Given the description of an element on the screen output the (x, y) to click on. 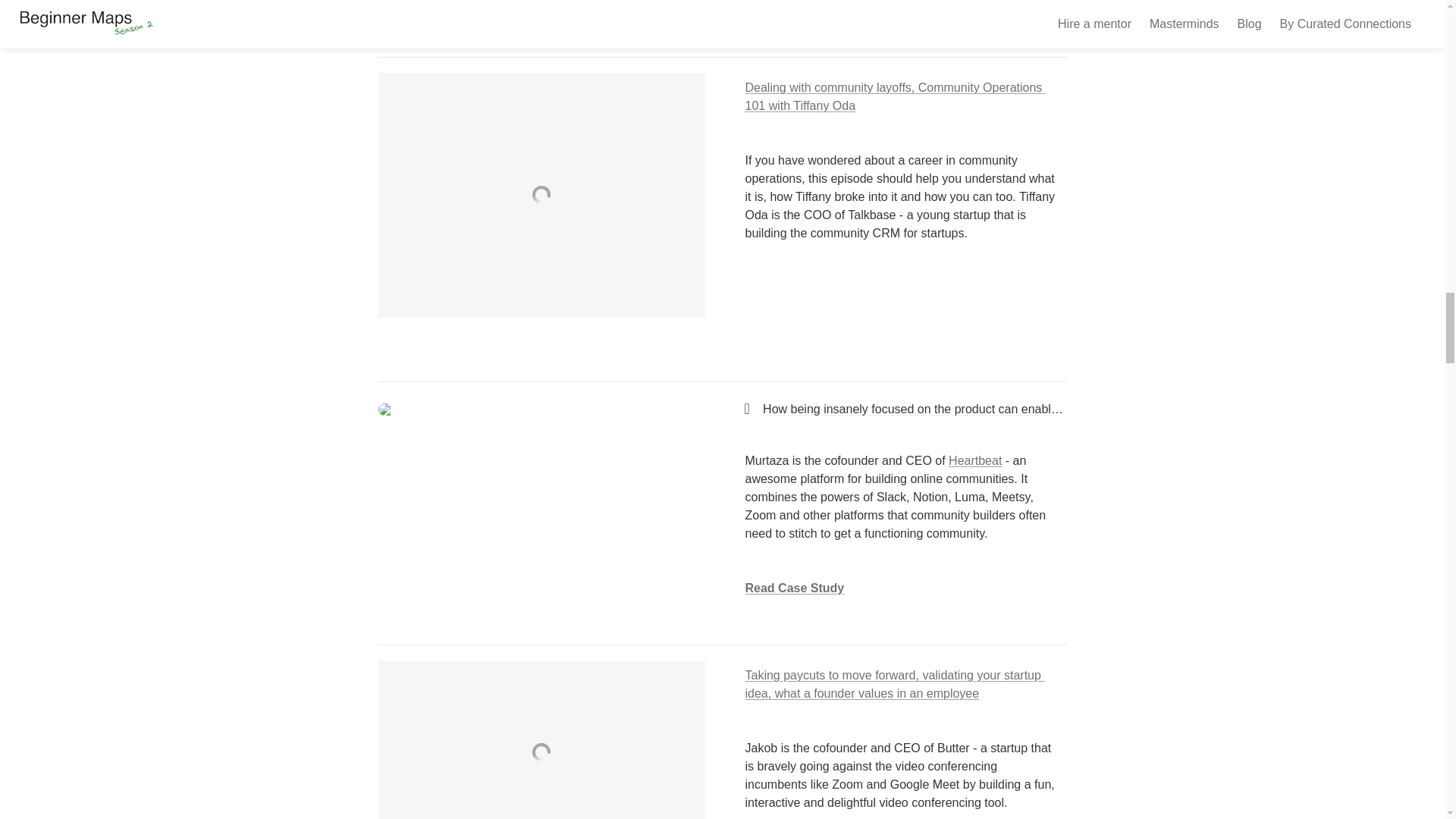
Read Case Study (794, 587)
Heartbeat (975, 460)
www.youtube.com (529, 739)
www.youtube.com (540, 194)
www.youtube.com (540, 8)
